Given the description of an element on the screen output the (x, y) to click on. 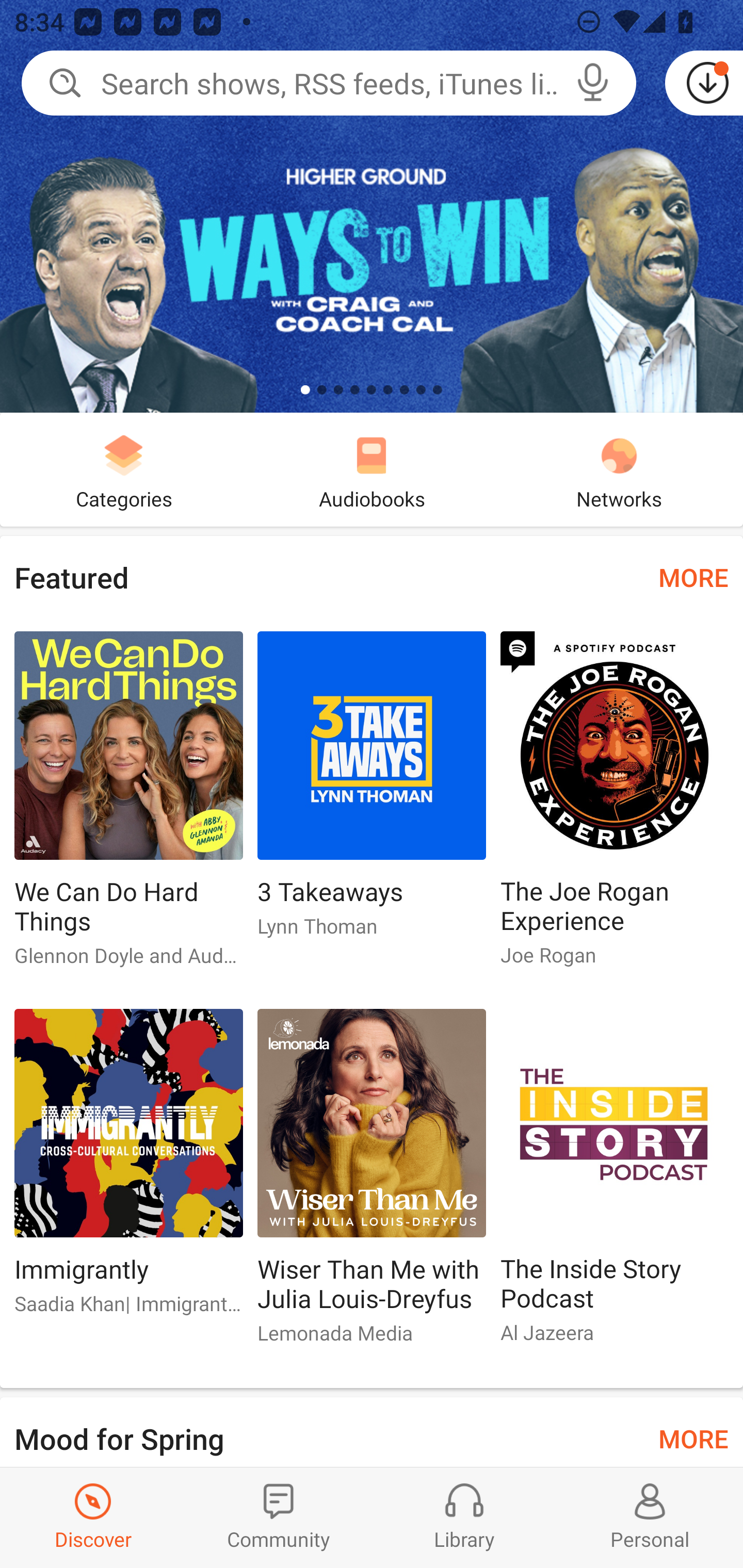
Ways To Win (371, 206)
Categories (123, 469)
Audiobooks (371, 469)
Networks (619, 469)
MORE (693, 576)
3 Takeaways 3 Takeaways Lynn Thoman (371, 792)
MORE (693, 1436)
Discover (92, 1517)
Community (278, 1517)
Library (464, 1517)
Profiles and Settings Personal (650, 1517)
